Given the description of an element on the screen output the (x, y) to click on. 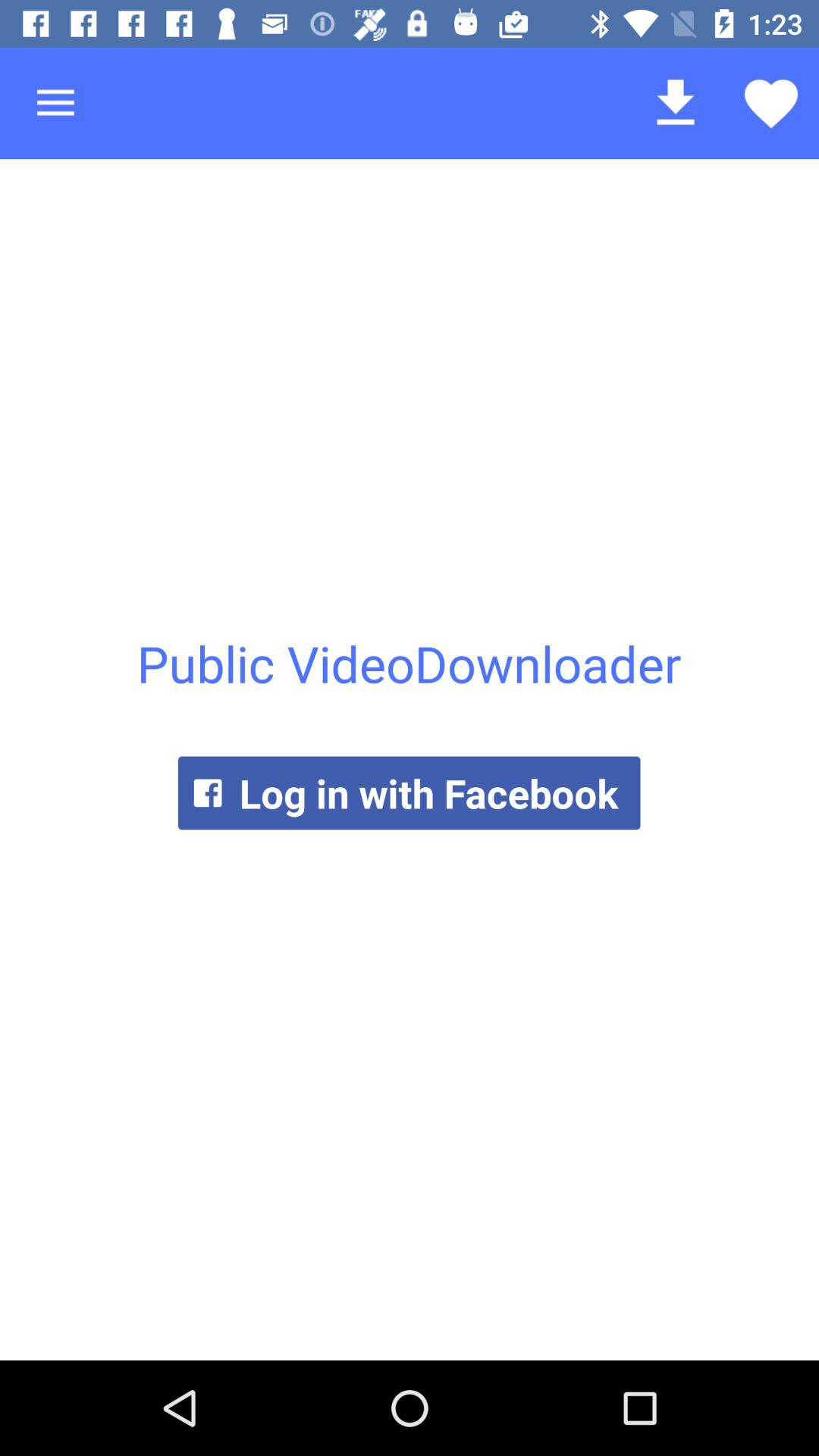
tap the log in with (409, 792)
